Given the description of an element on the screen output the (x, y) to click on. 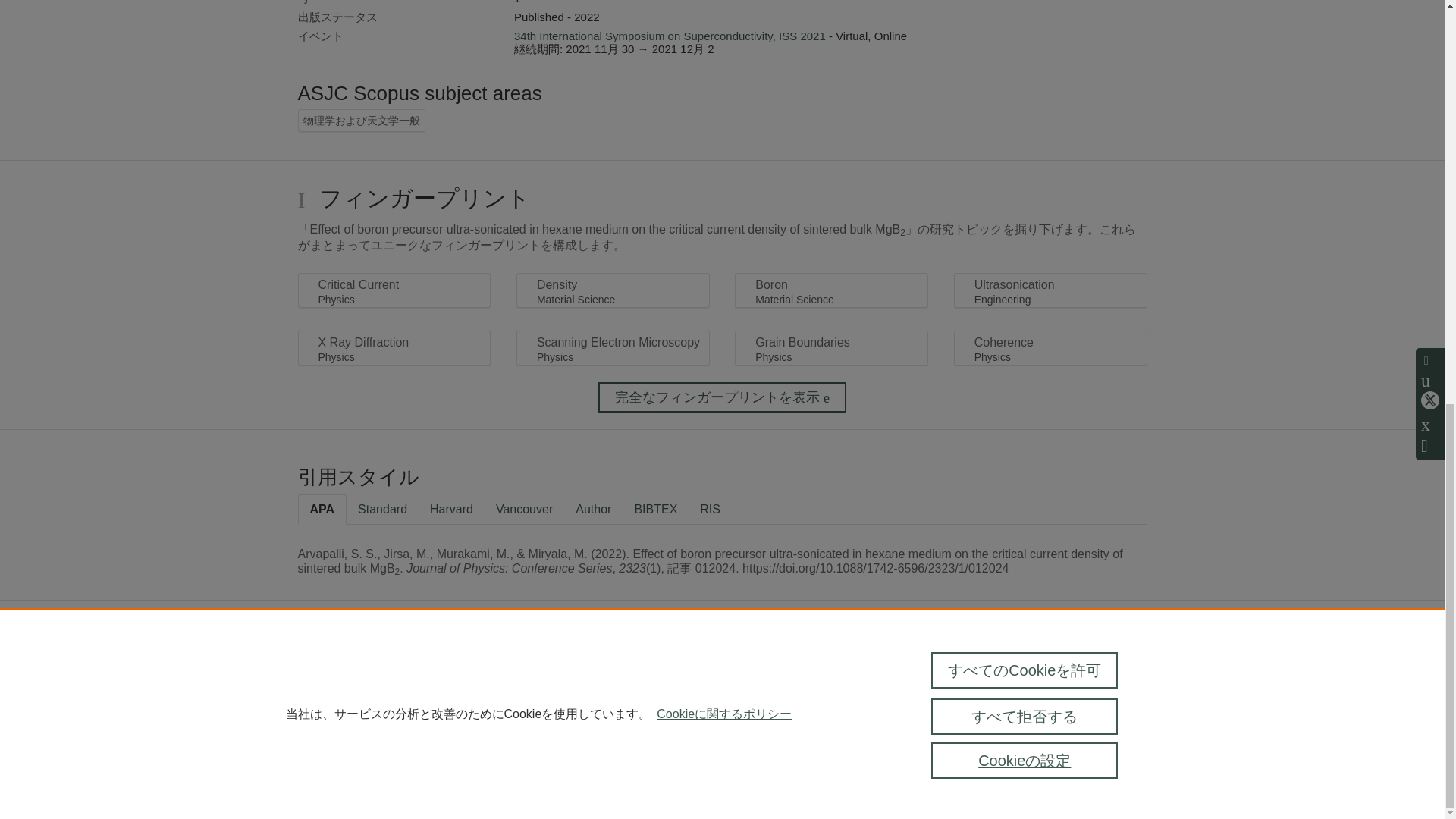
34th International Symposium on Superconductivity, ISS 2021 (669, 35)
